Given the description of an element on the screen output the (x, y) to click on. 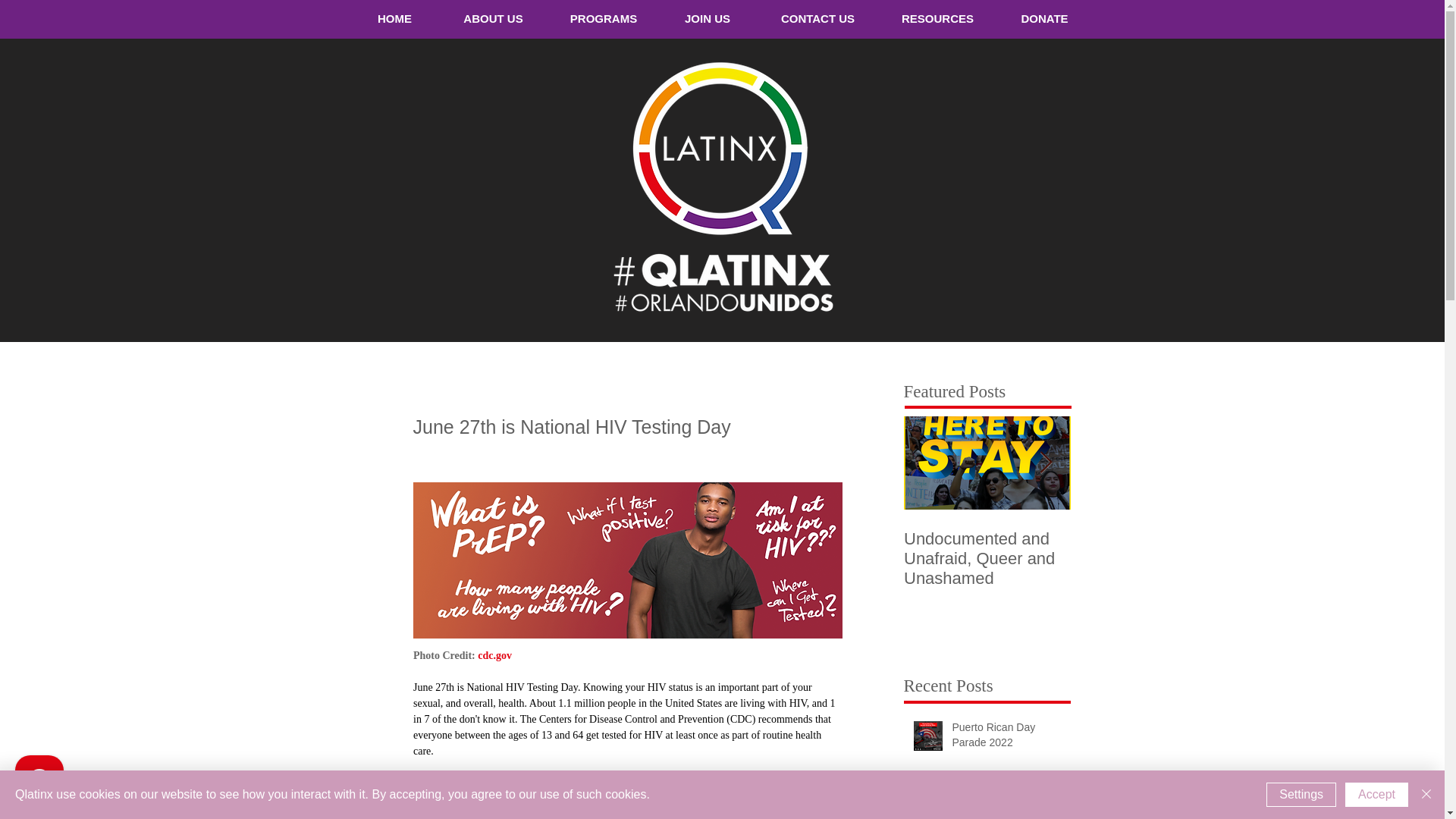
CONTACT US (817, 18)
cdc.gov (494, 655)
JOIN US (707, 18)
ABOUT US (492, 18)
Puerto Rican Day Parade 2022 (1006, 737)
HOME (394, 18)
Undocumented and Unafraid, Queer and Unashamed (987, 558)
PROGRAMS (603, 18)
DONATE (1044, 18)
Wix Chat (35, 783)
